Given the description of an element on the screen output the (x, y) to click on. 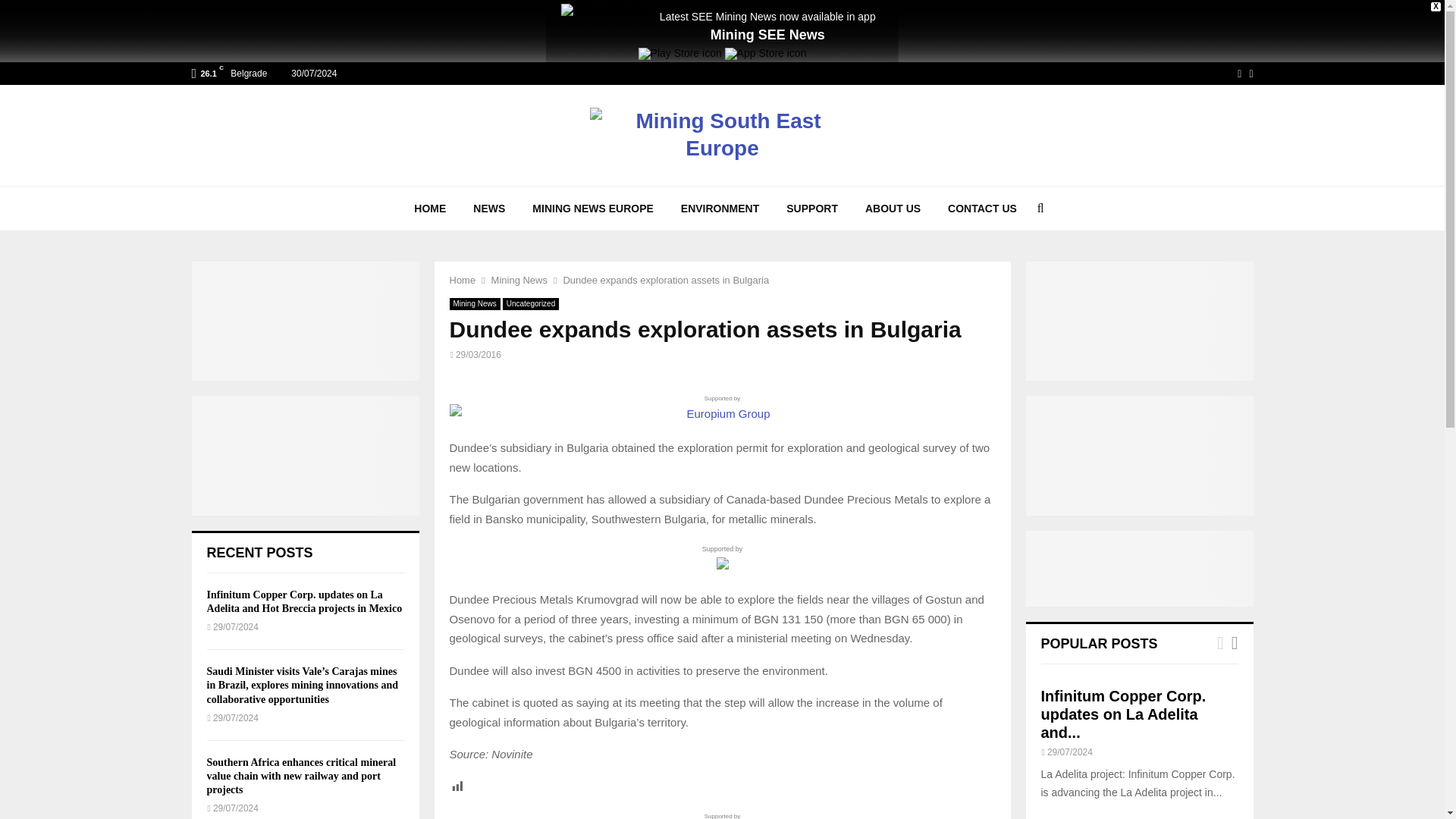
ABOUT US (892, 207)
HOME (430, 207)
MINING NEWS EUROPE (592, 207)
NEWS (489, 207)
Mining News (473, 304)
ENVIRONMENT (719, 207)
Home (462, 279)
Uncategorized (530, 304)
Supported by (721, 815)
Mining News (519, 279)
CONTACT US (982, 207)
